Given the description of an element on the screen output the (x, y) to click on. 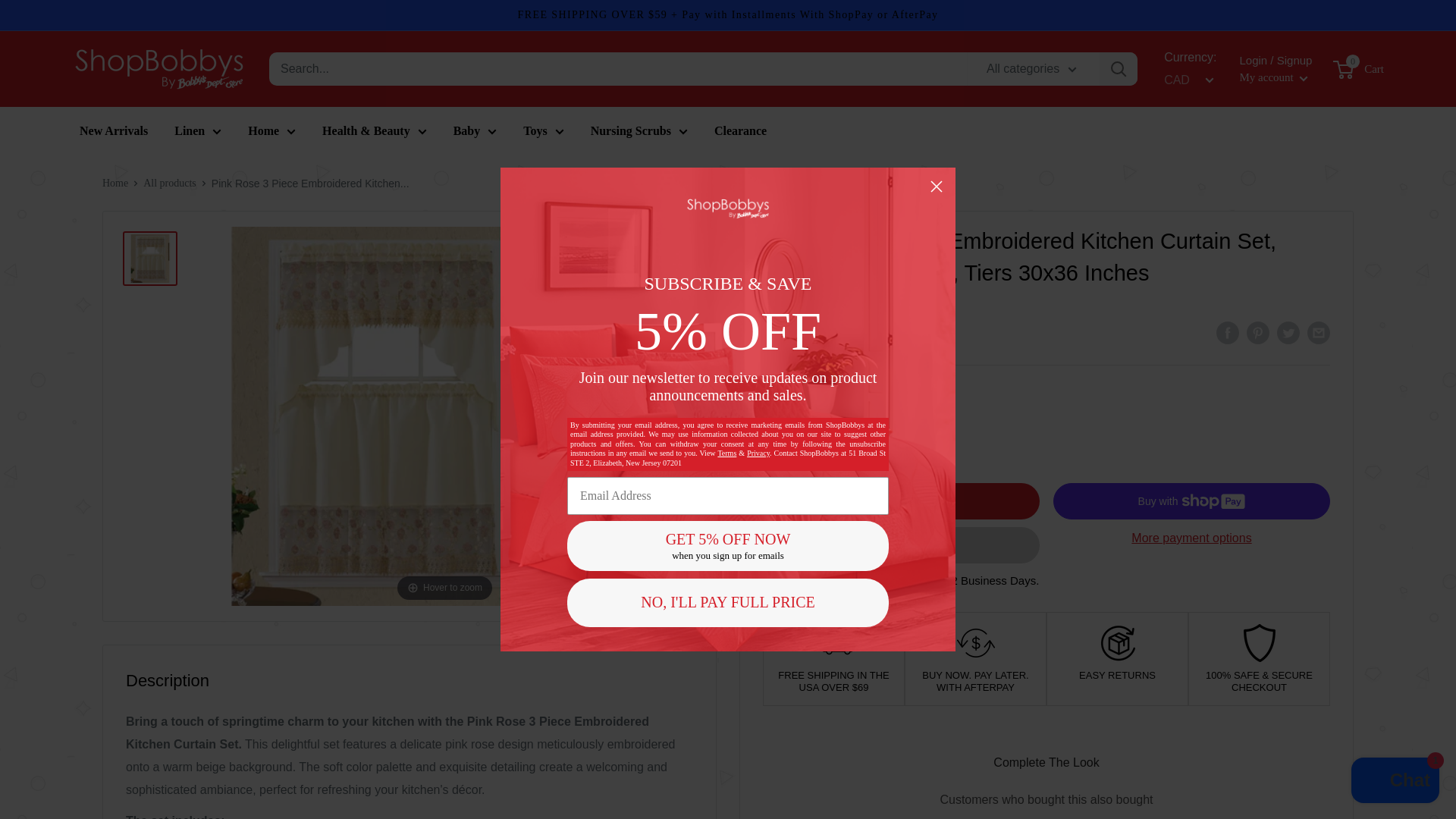
Currency (1186, 79)
